Given the description of an element on the screen output the (x, y) to click on. 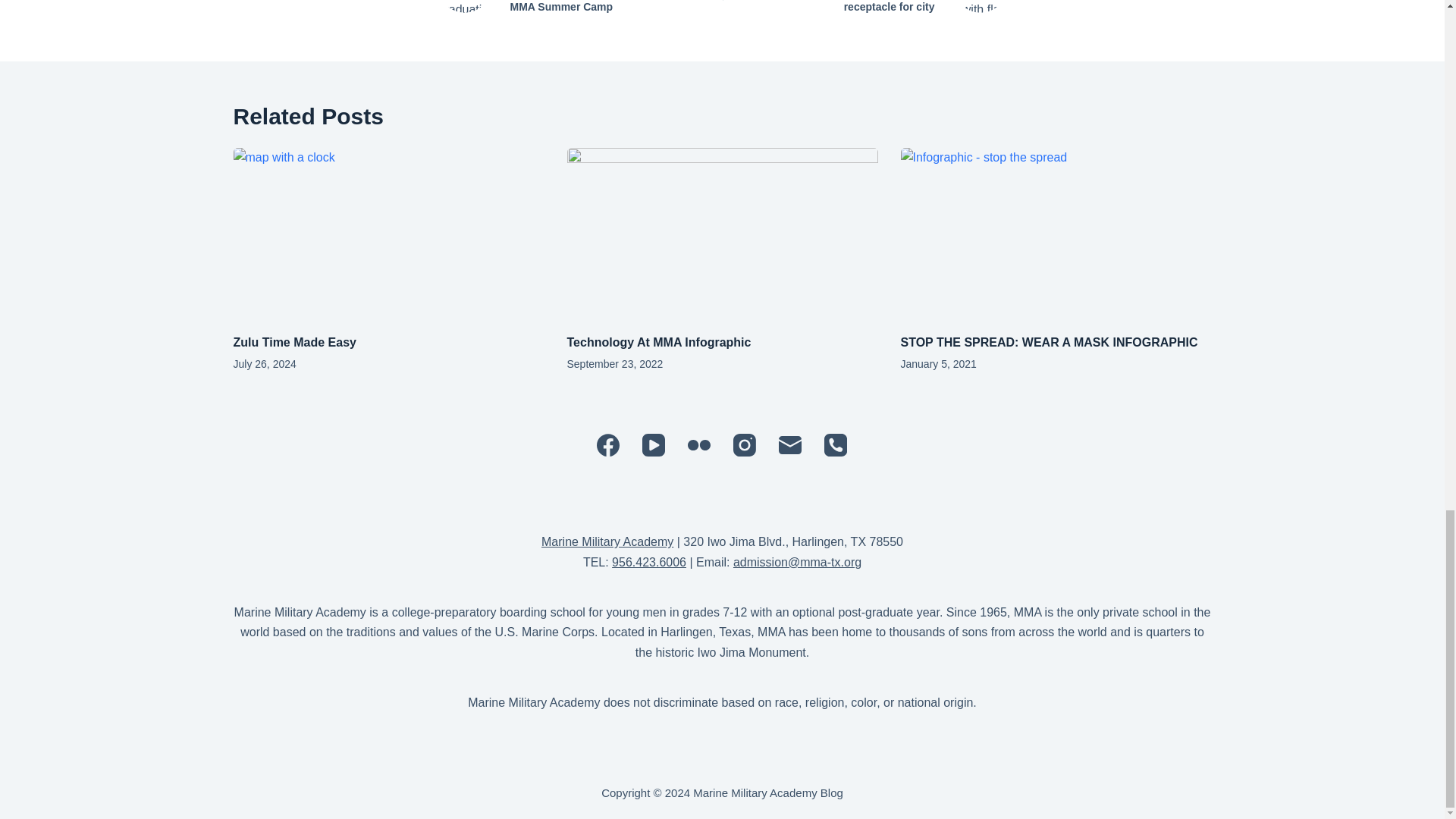
Technology At MMA Infographic (659, 341)
STOP THE SPREAD: WEAR A MASK INFOGRAPHIC (1049, 341)
Zulu Time Made Easy (294, 341)
